Given the description of an element on the screen output the (x, y) to click on. 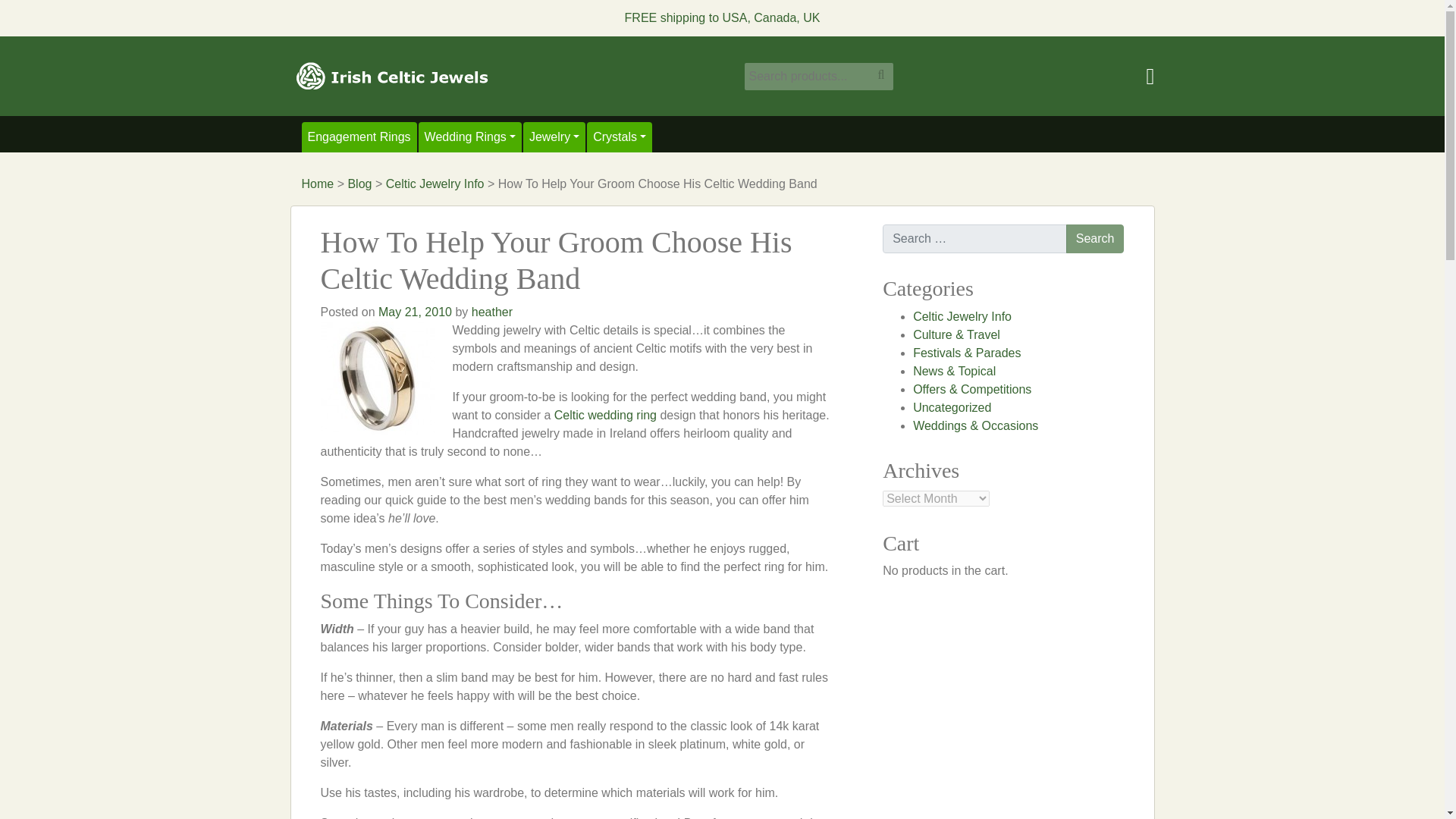
Search (1094, 238)
Engagement Rings (358, 137)
Crystals (619, 137)
Blog (359, 183)
Home (317, 183)
Wedding Rings (470, 137)
Jewelry (553, 137)
heather (491, 311)
Celtic wedding ring (605, 414)
FREE shipping to USA, Canada, UK (722, 17)
